Given the description of an element on the screen output the (x, y) to click on. 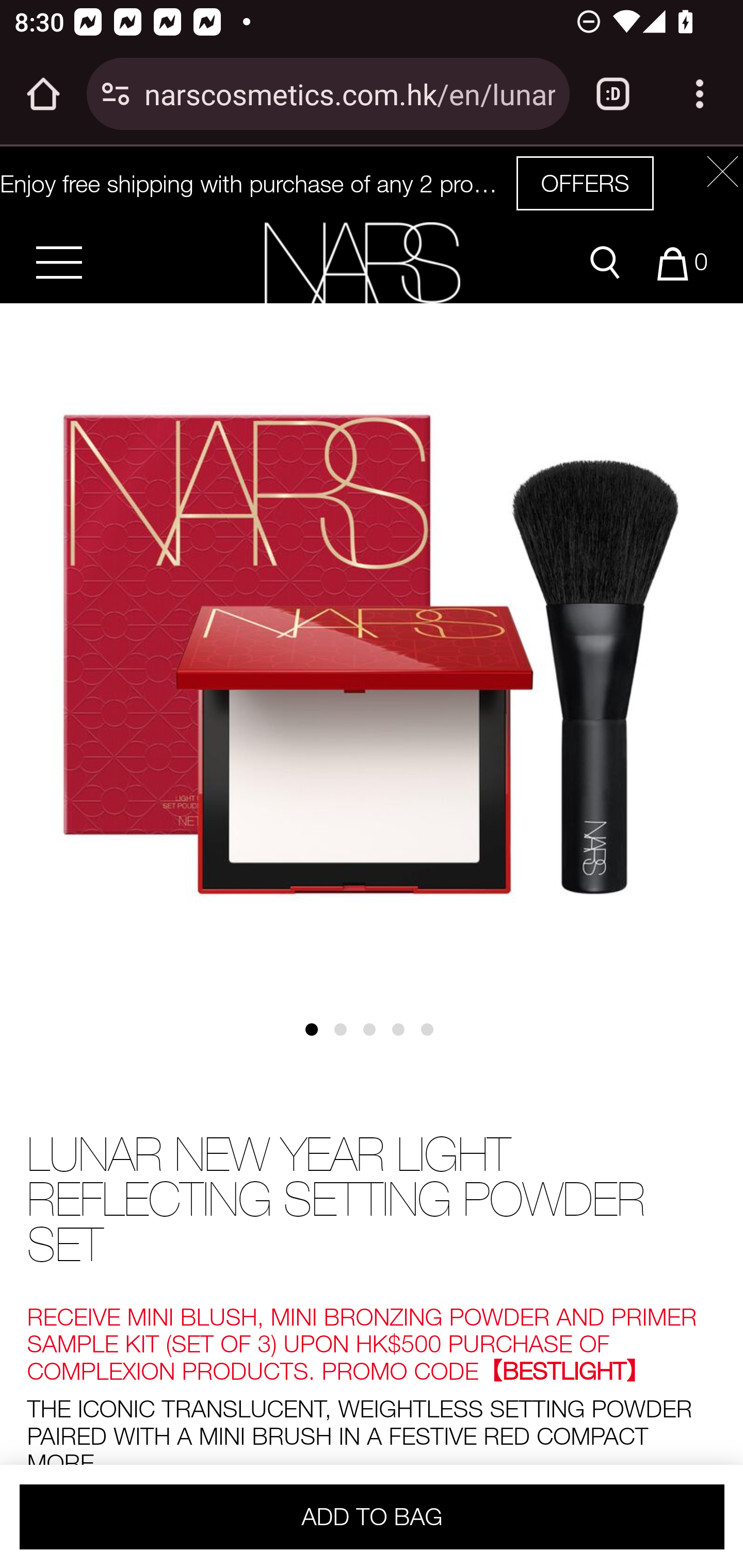
Open the home page (43, 93)
Connection is secure (115, 93)
Switch or close tabs (612, 93)
Customize and control Google Chrome (699, 93)
NARS (361, 261)
WHAT ARE YOU LOOKING FOR? (605, 262)
1 (318, 1037)
LUNAR NEW YEAR LIGHT REFLECTING SETTING POWDER SET (371, 1200)
